Given the description of an element on the screen output the (x, y) to click on. 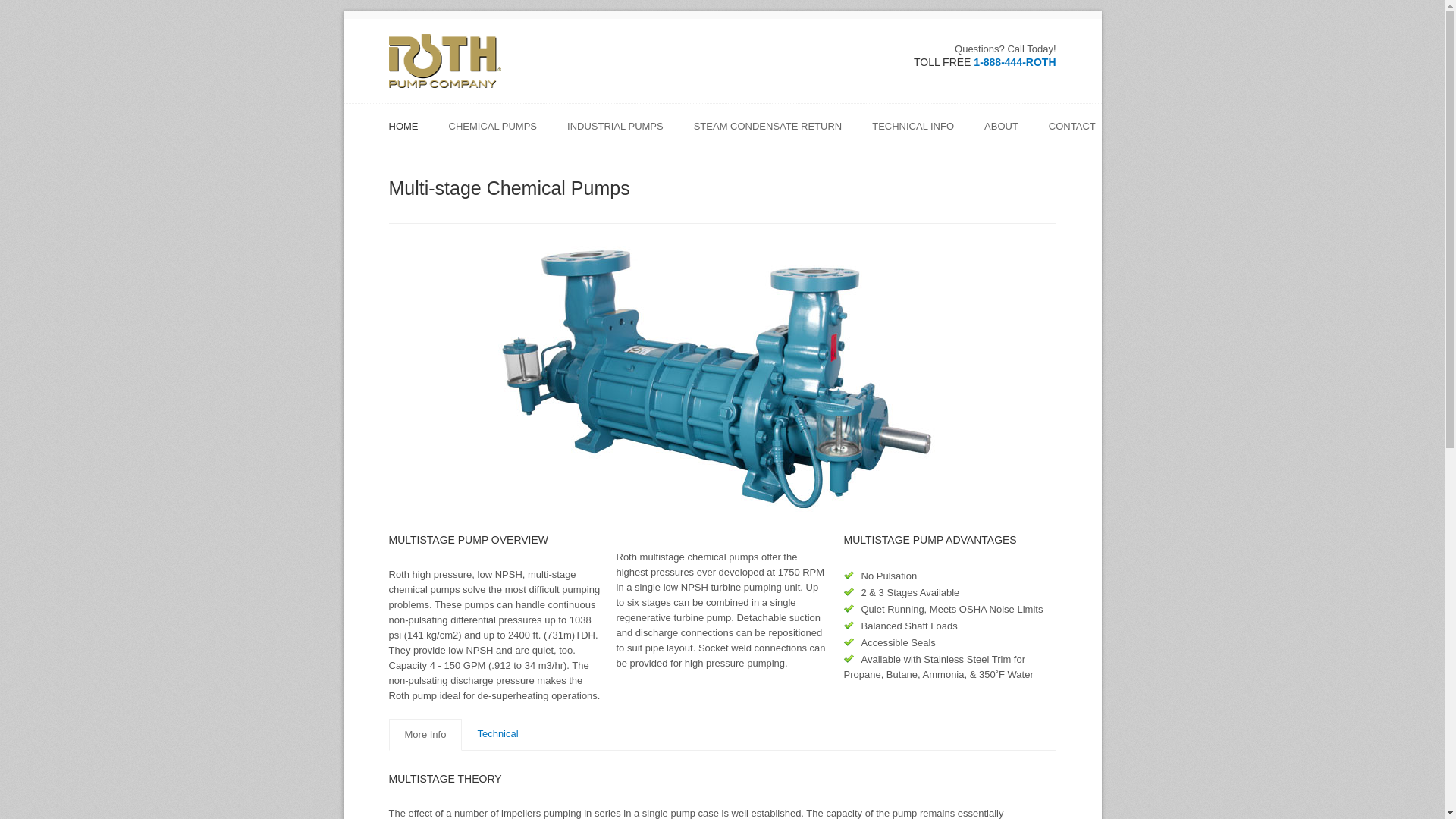
STEAM CONDENSATE RETURN (775, 132)
HOME (410, 132)
Technical (496, 734)
INDUSTRIAL PUMPS (622, 132)
CHEMICAL PUMPS (500, 132)
More Info (424, 735)
CONTACT (1072, 132)
1-888-444-ROTH (1014, 61)
TECHNICAL INFO (920, 132)
ABOUT (1008, 132)
